Given the description of an element on the screen output the (x, y) to click on. 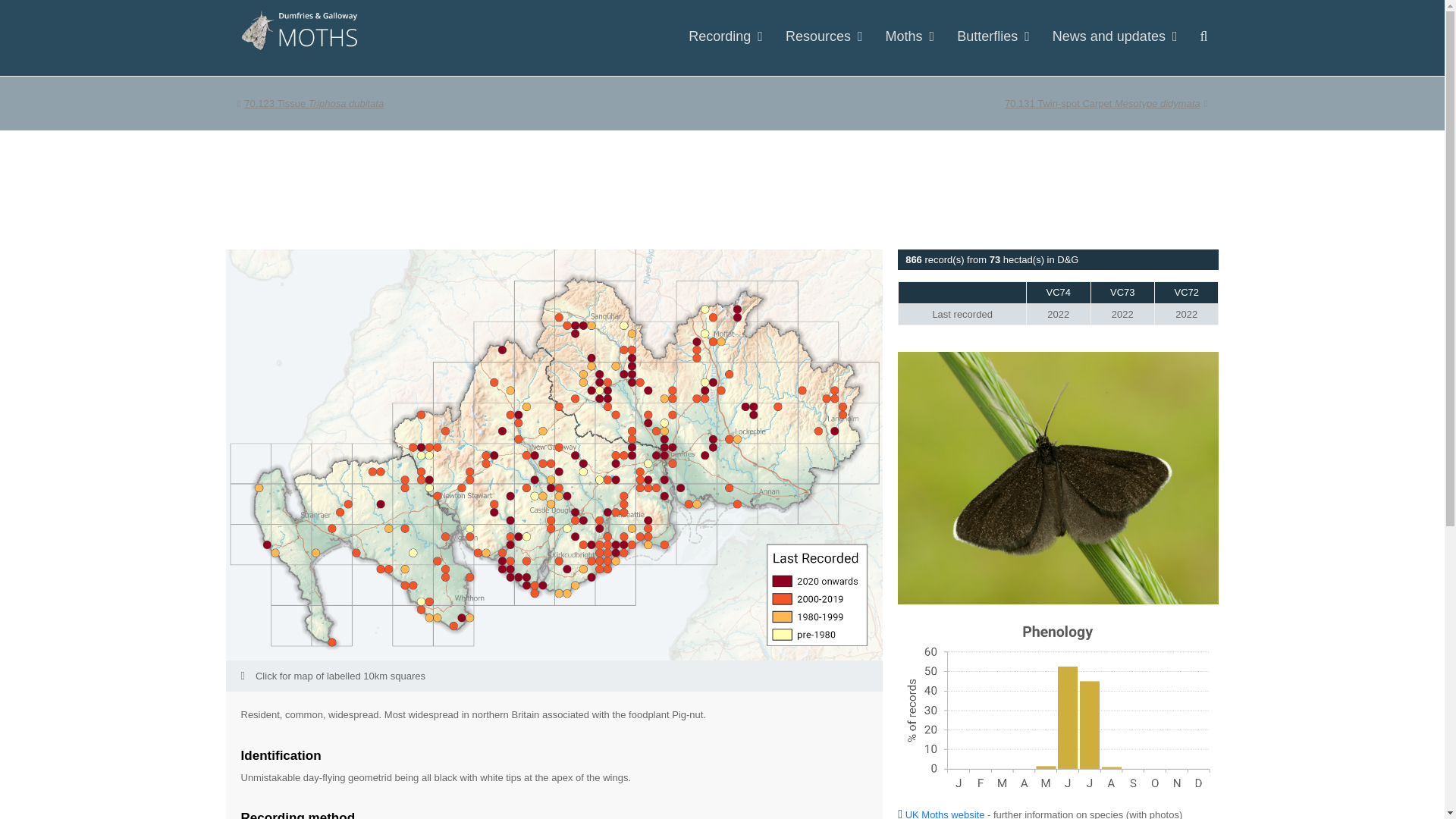
Click for map of labelled 10km squares (554, 675)
News and updates (1115, 37)
Moths (1106, 102)
Butterflies (309, 102)
Recording (910, 37)
Resources (992, 37)
